Given the description of an element on the screen output the (x, y) to click on. 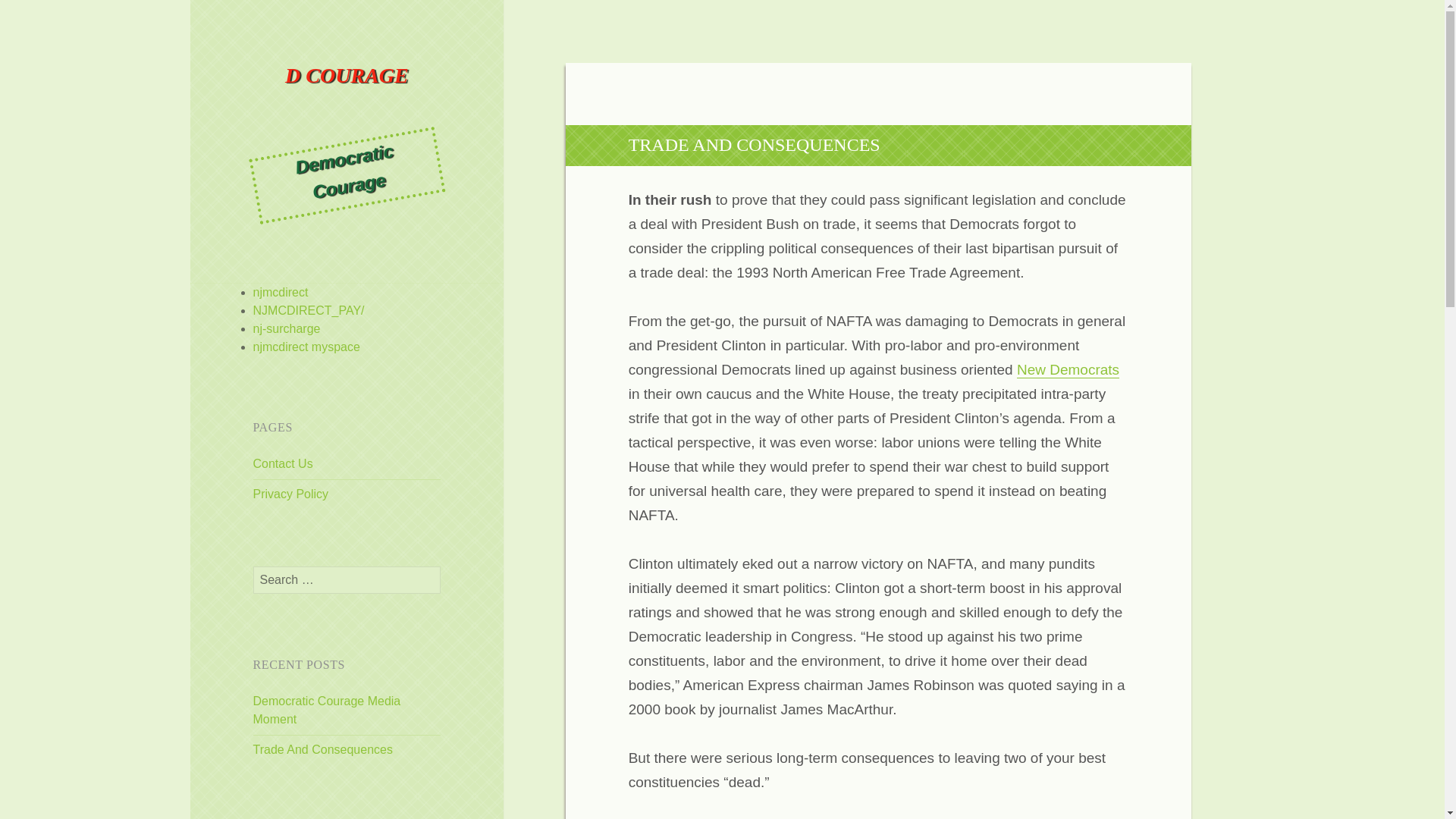
Trade And Consequences (323, 748)
Contact Us (283, 463)
njmcdirect myspace (306, 346)
D COURAGE (347, 93)
njmcdirect (280, 291)
New Democrats (1067, 369)
Democratic Courage Media Moment (327, 709)
Privacy Policy (291, 493)
nj-surcharge (286, 328)
